Given the description of an element on the screen output the (x, y) to click on. 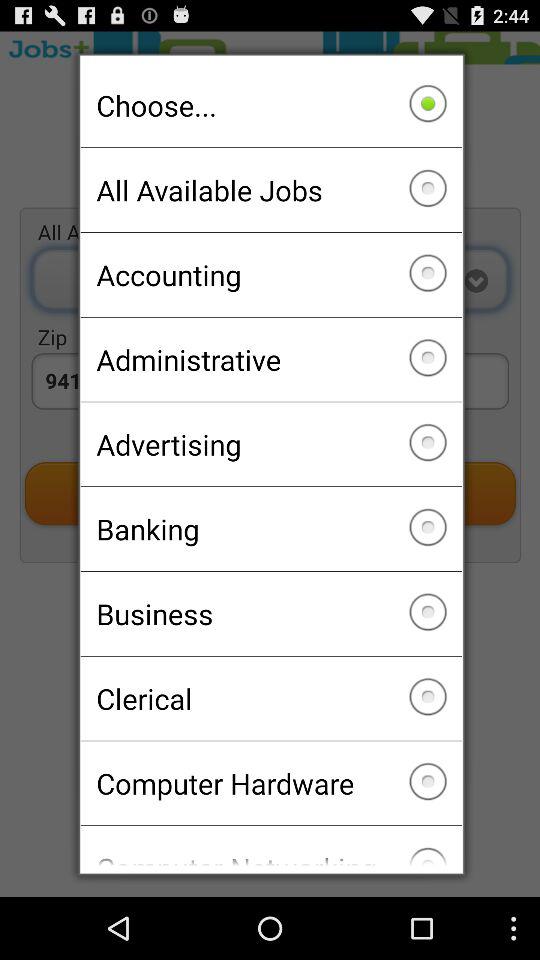
swipe until the advertising (270, 444)
